Given the description of an element on the screen output the (x, y) to click on. 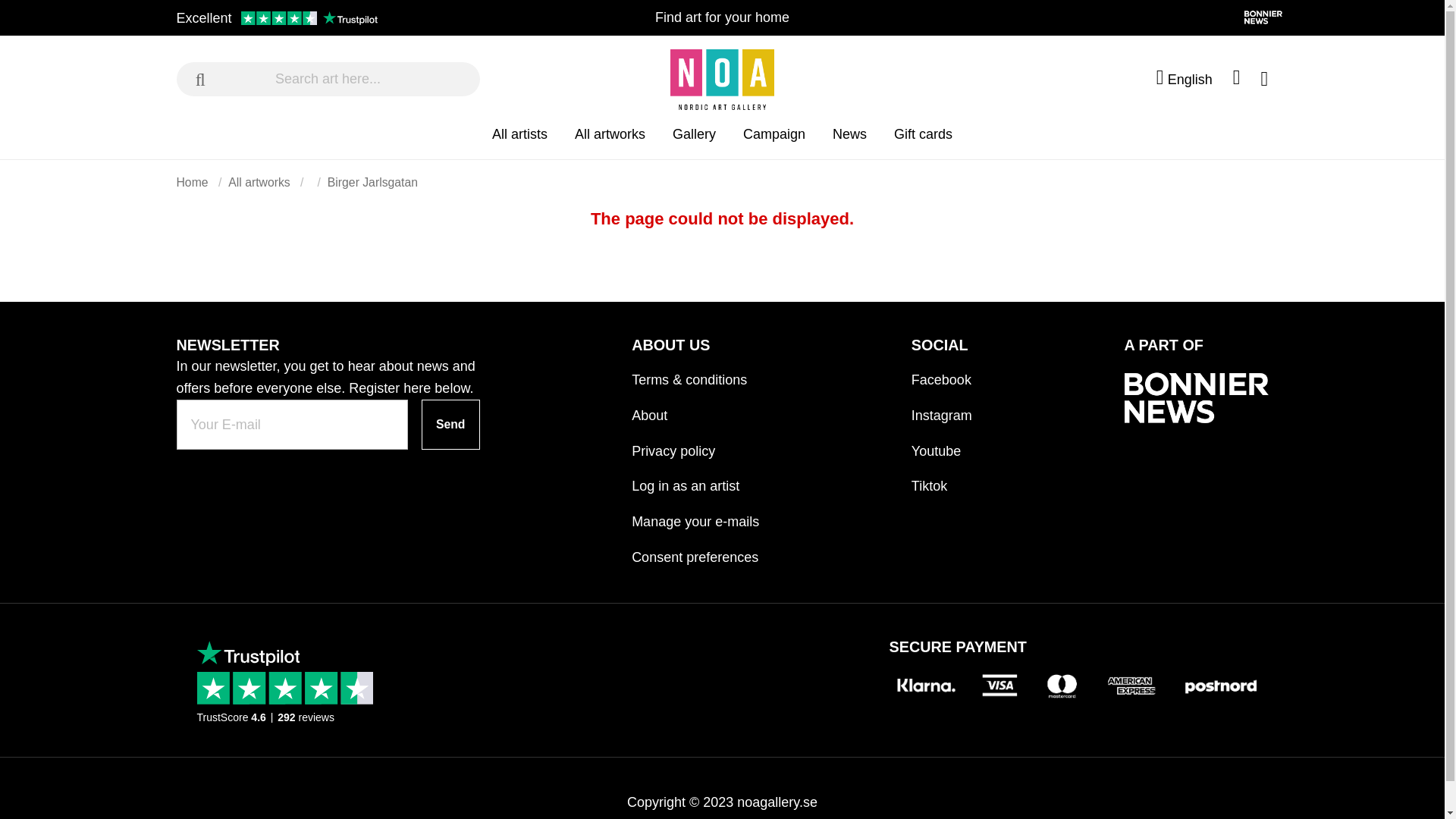
Privacy policy (694, 443)
Log in as an artist (694, 479)
Gallery (694, 140)
All artworks (610, 140)
All artworks (610, 140)
Customer reviews powered by Trustpilot (275, 17)
Manage your e-mails (694, 515)
About (694, 408)
All artists (519, 140)
